Given the description of an element on the screen output the (x, y) to click on. 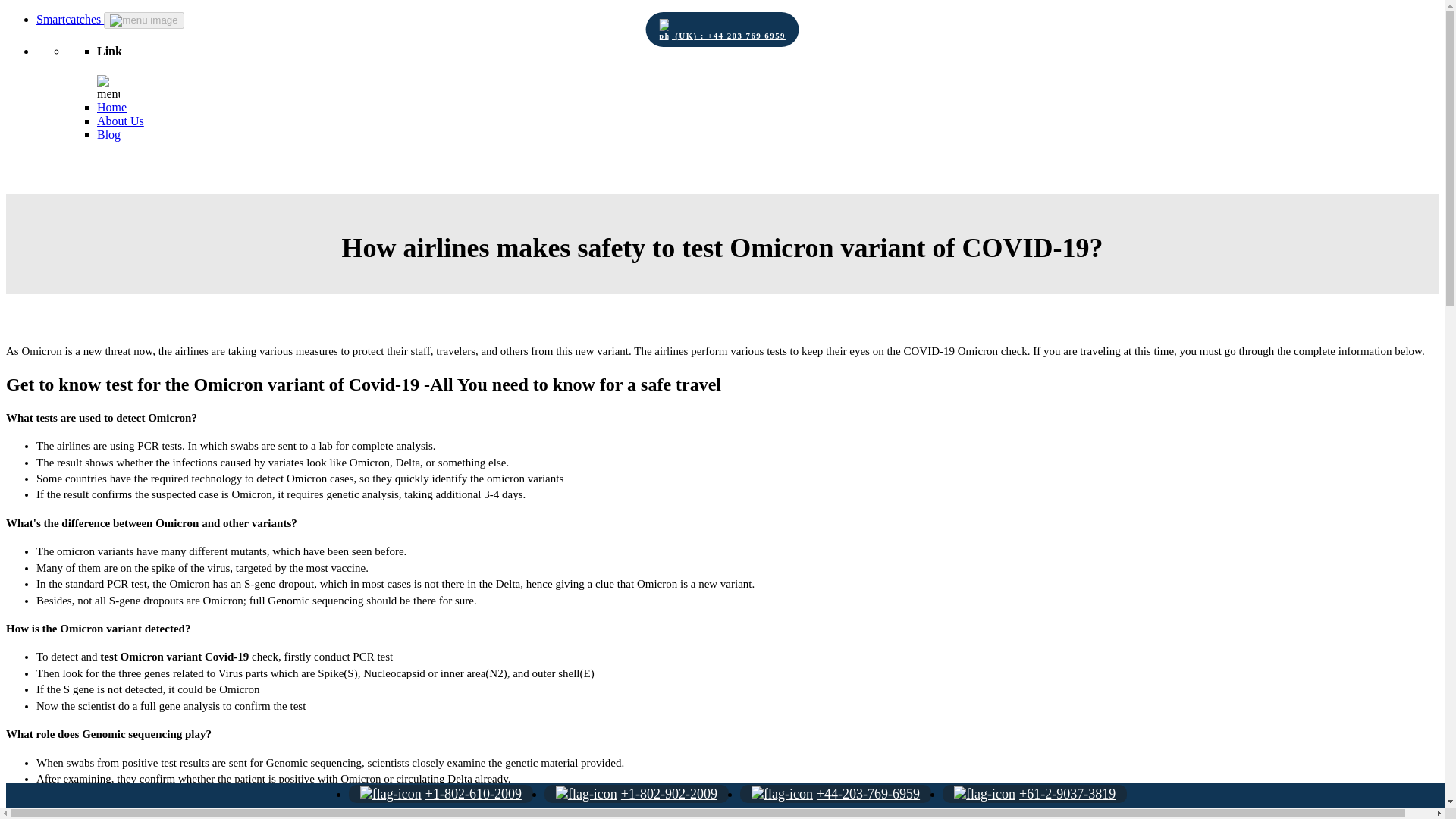
Home (111, 106)
Blog (108, 133)
Smartcatches (69, 19)
About Us (120, 120)
